Given the description of an element on the screen output the (x, y) to click on. 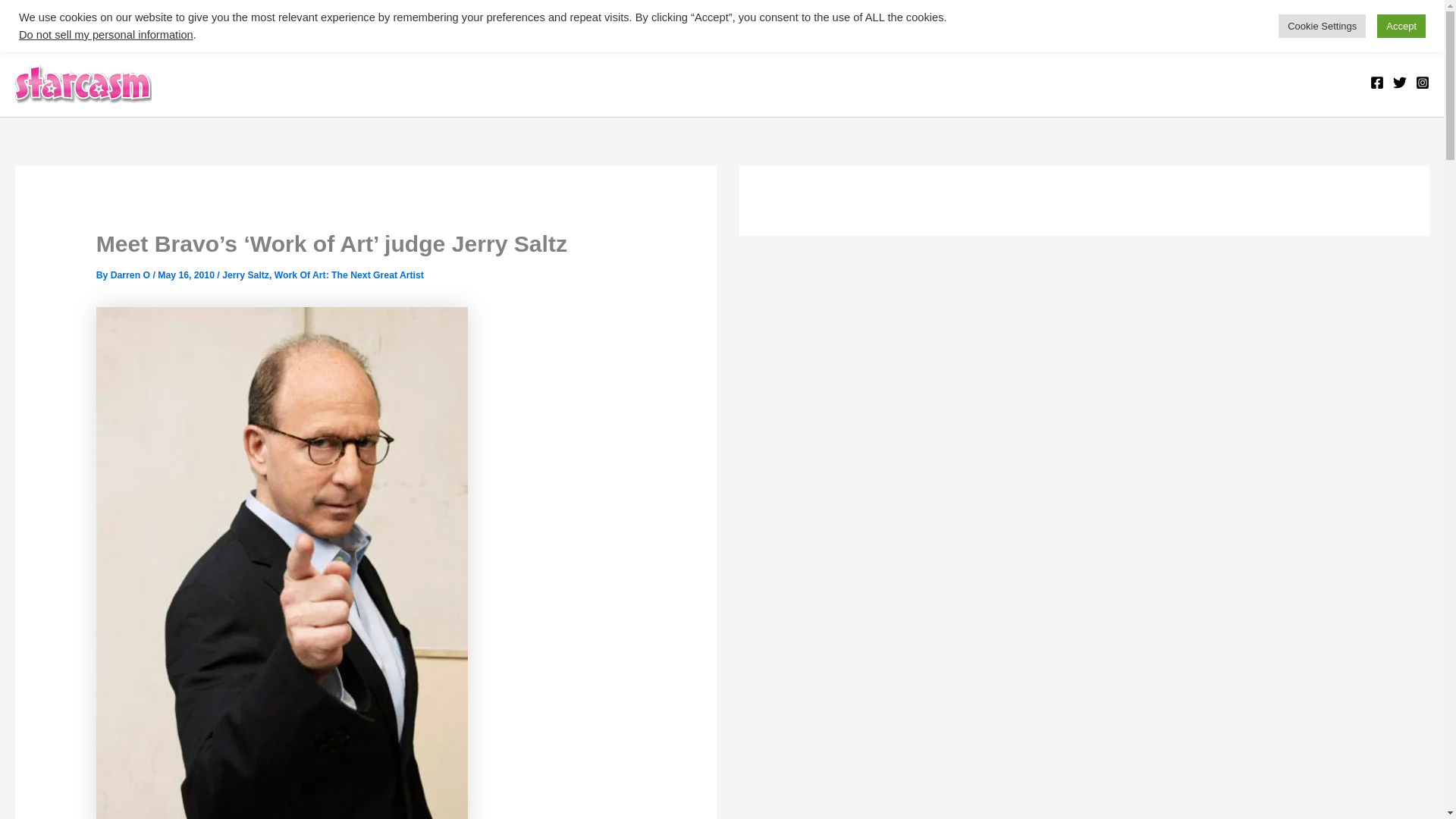
Search Button (1415, 31)
View all posts by Darren O (131, 275)
Home (188, 22)
Search (48, 28)
TOP CATEGORIES (87, 22)
